Given the description of an element on the screen output the (x, y) to click on. 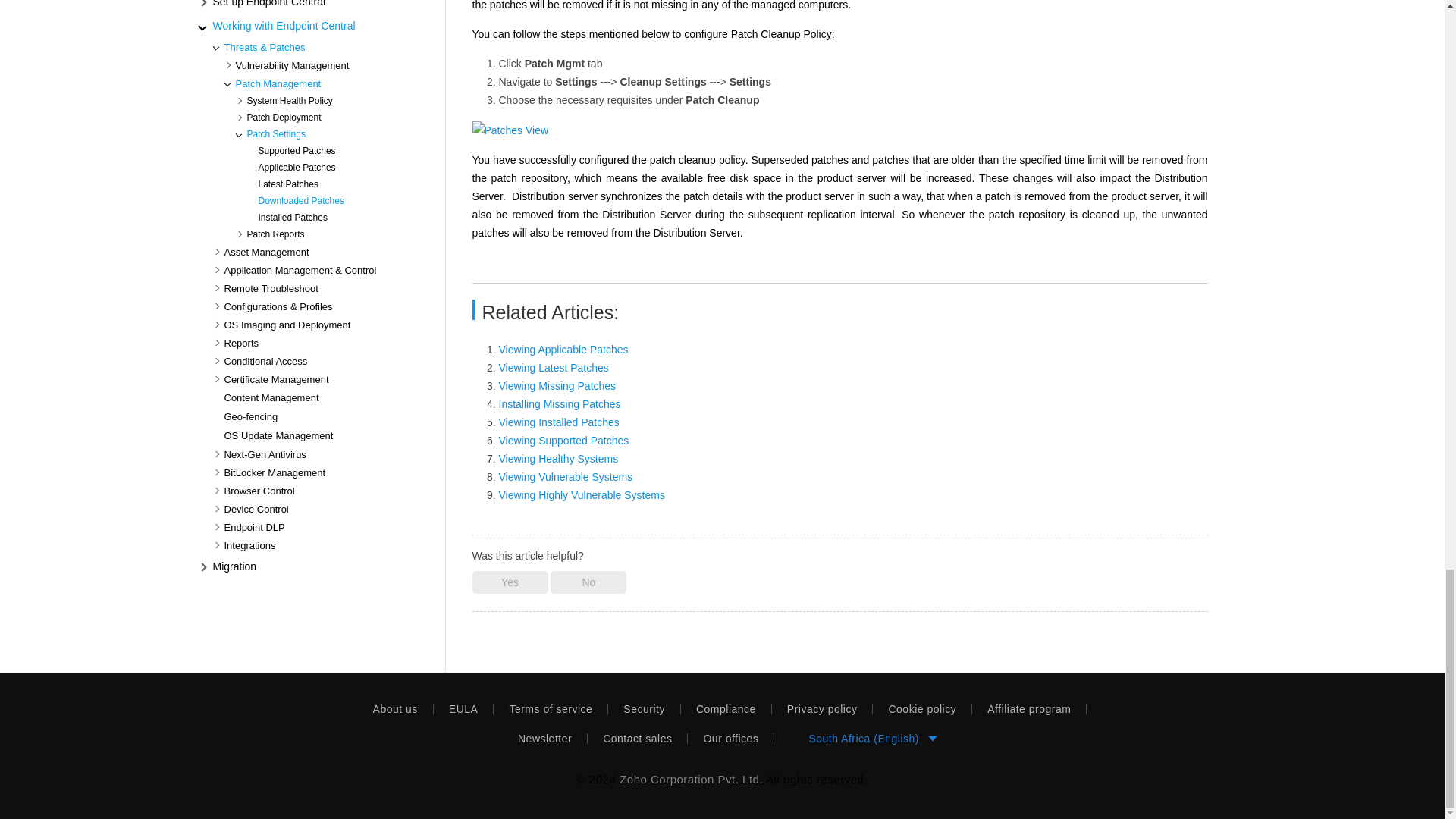
No (588, 581)
EULA (464, 708)
Terms of Service (550, 708)
Security (644, 708)
Downloaded Patches (509, 130)
About us (395, 708)
Yes (509, 581)
